Given the description of an element on the screen output the (x, y) to click on. 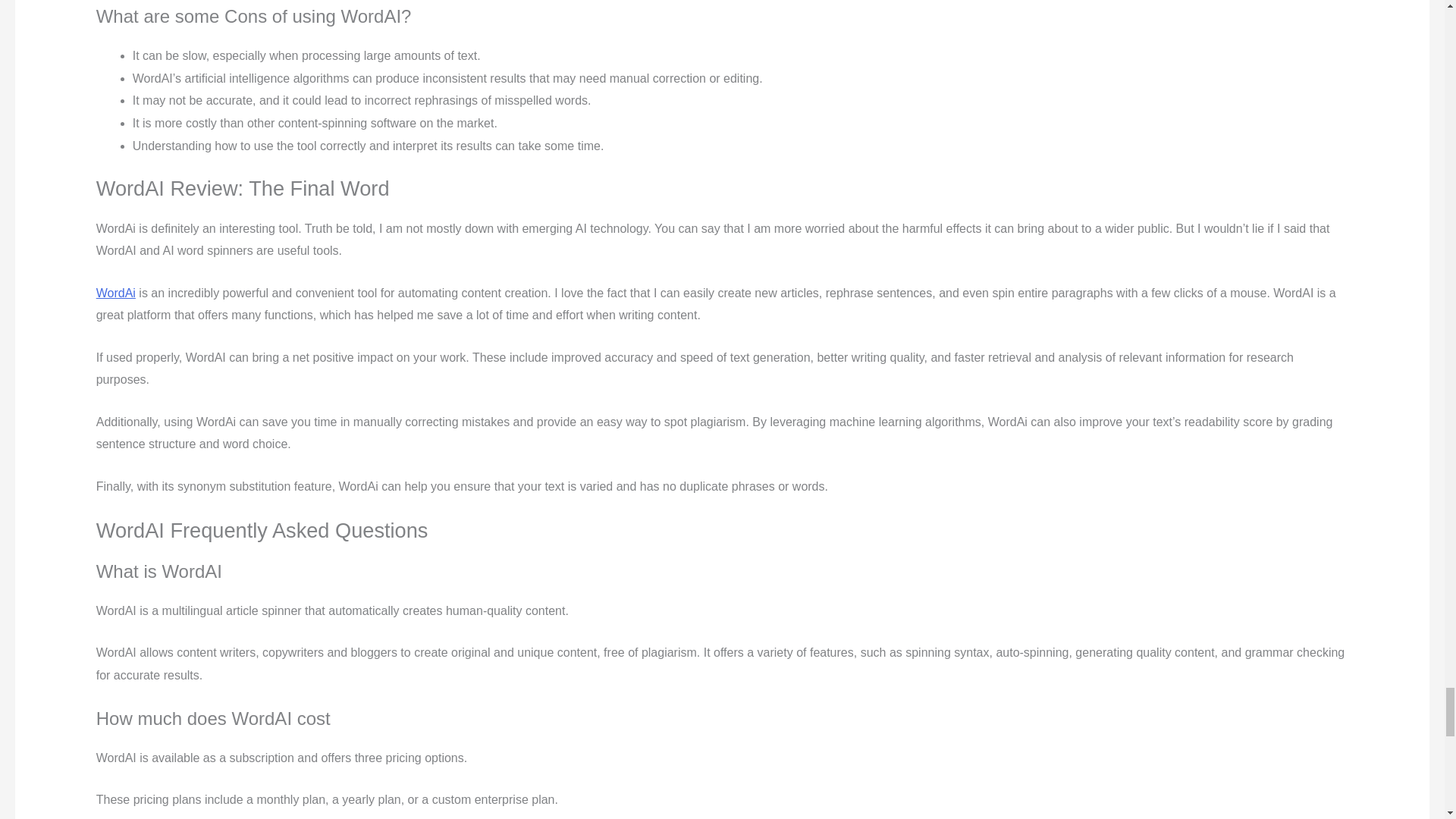
WordAi (115, 292)
